Given the description of an element on the screen output the (x, y) to click on. 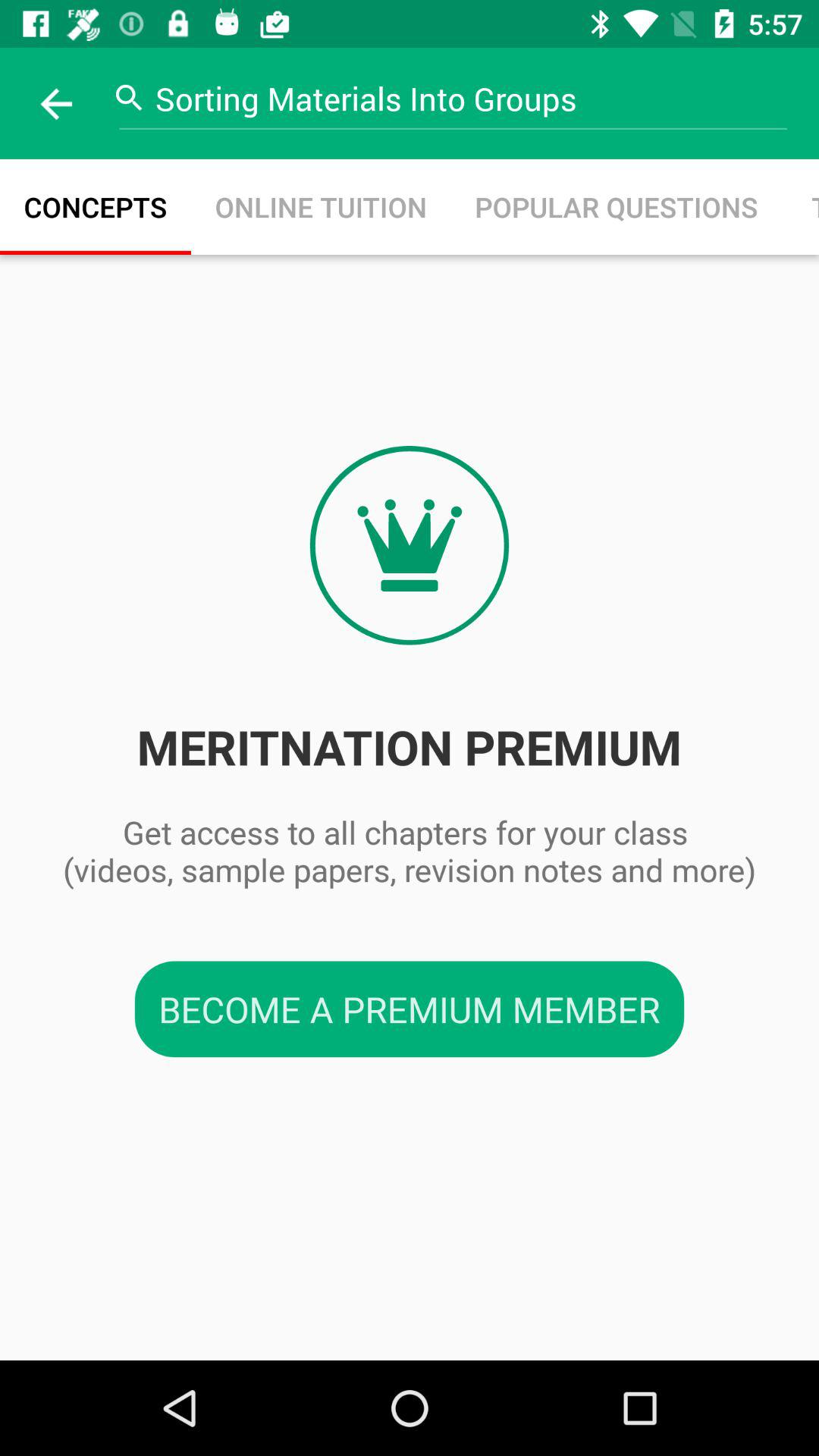
jump to the sorting materials into icon (465, 98)
